Given the description of an element on the screen output the (x, y) to click on. 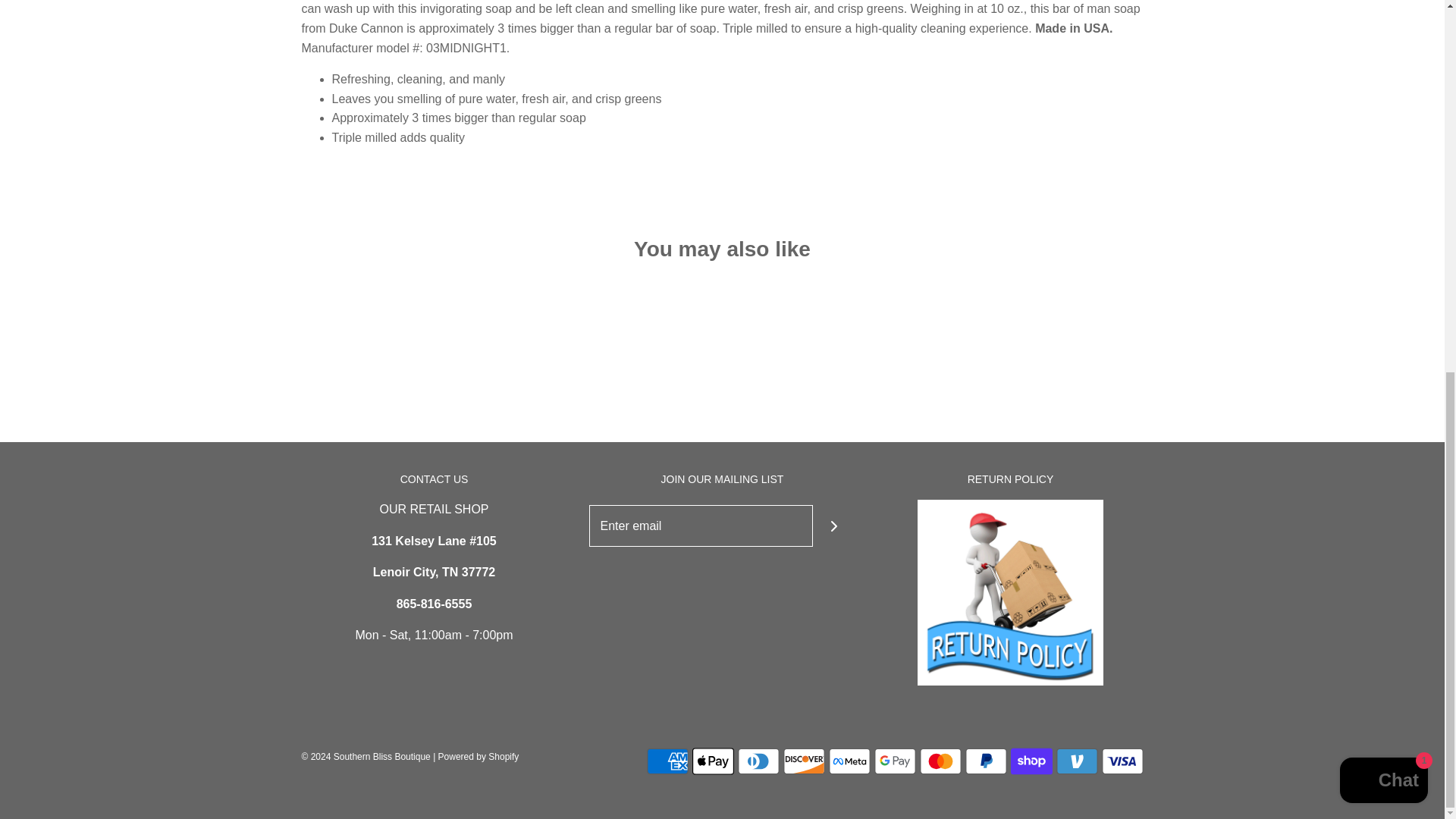
Meta Pay (848, 761)
Apple Pay (712, 761)
Visa (1121, 761)
Mastercard (939, 761)
Google Pay (894, 761)
American Express (666, 761)
Venmo (1076, 761)
Shop Pay (1030, 761)
Shopify online store chat (1383, 103)
Diners Club (757, 761)
PayPal (984, 761)
Discover (803, 761)
